Given the description of an element on the screen output the (x, y) to click on. 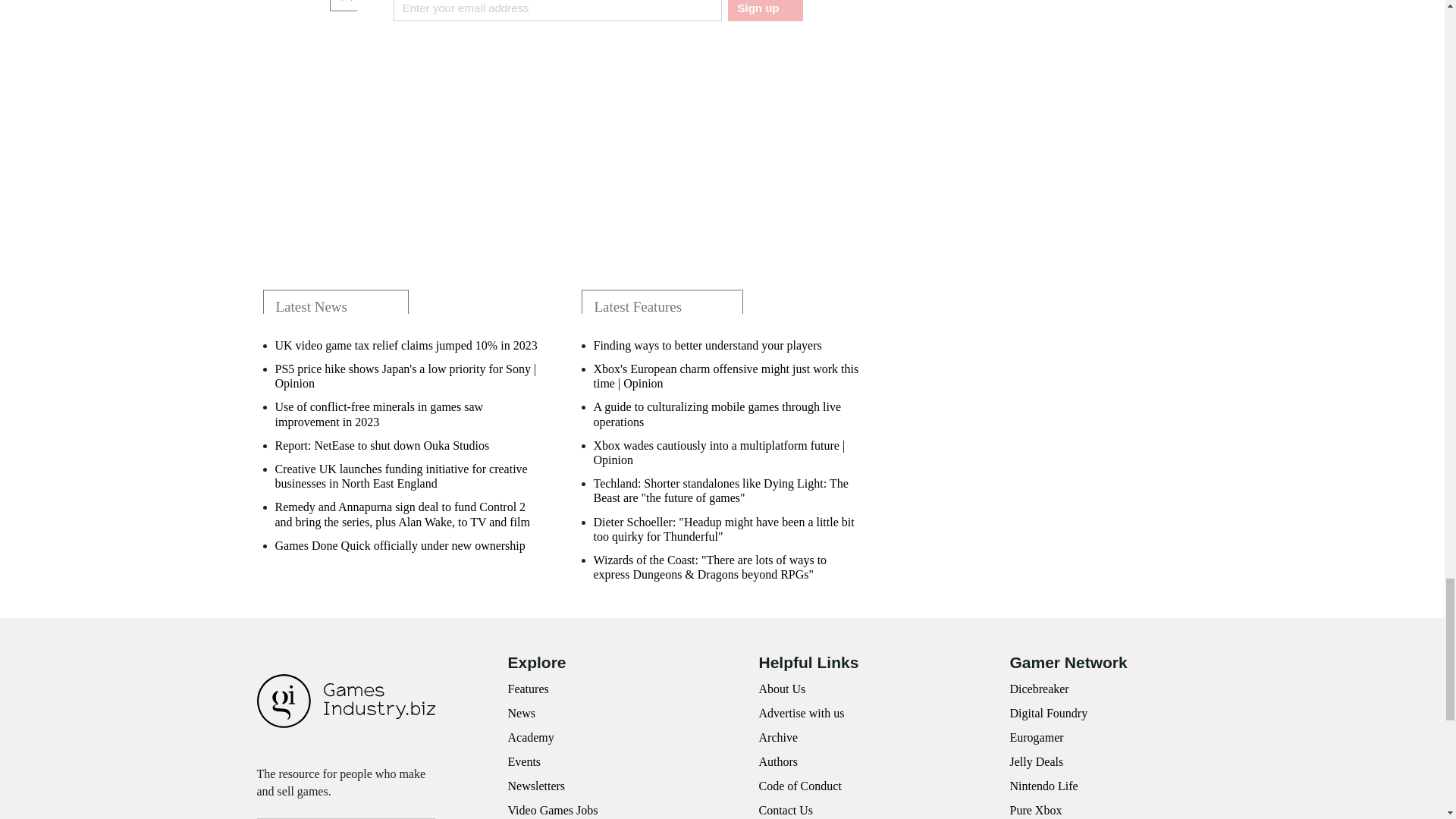
Features (528, 688)
Sign up (765, 10)
Events (524, 761)
Newsletters (537, 785)
About Us (781, 688)
News (521, 712)
Video Games Jobs (553, 809)
Academy (531, 737)
